Given the description of an element on the screen output the (x, y) to click on. 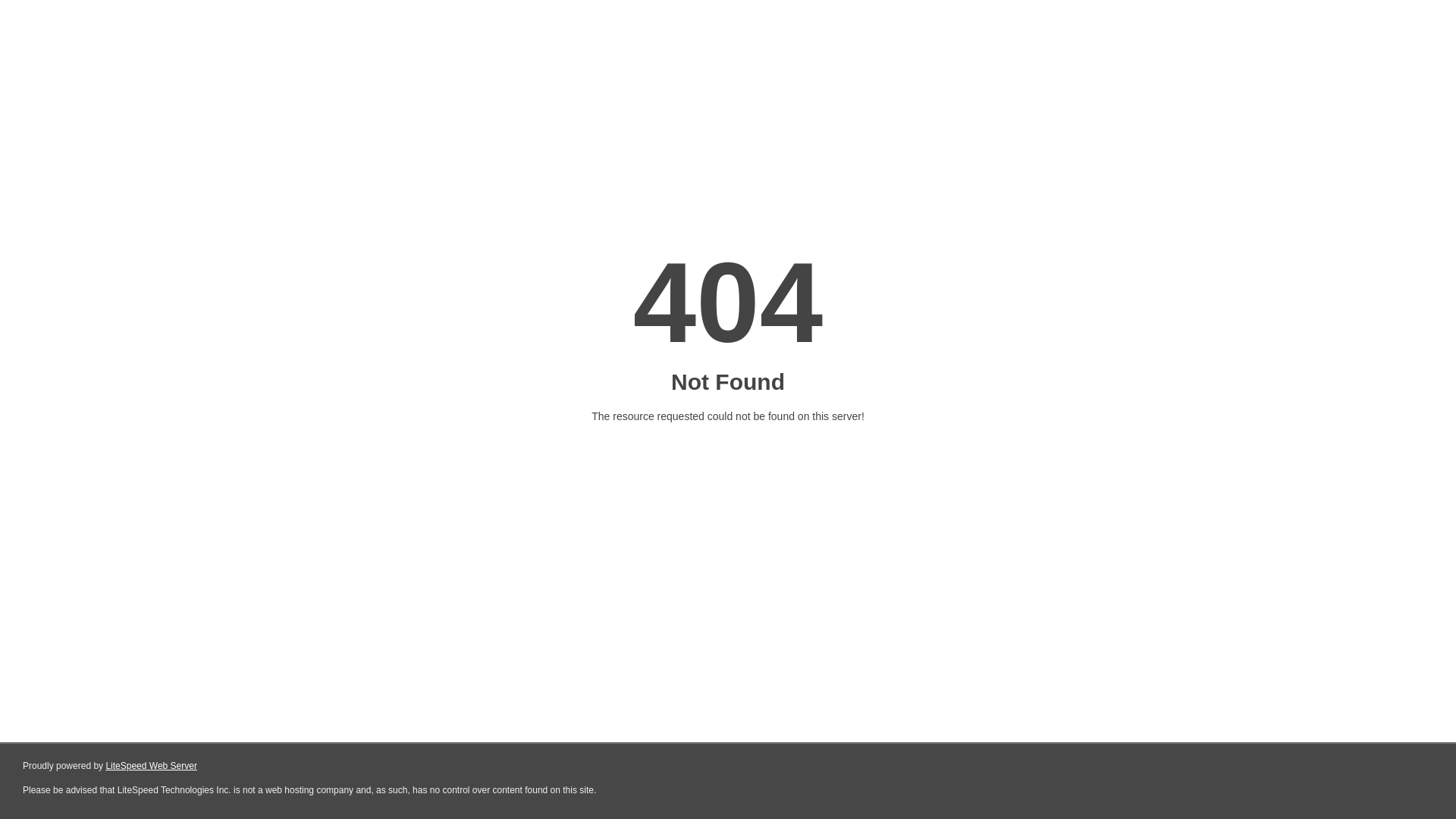
LiteSpeed Web Server Element type: text (151, 765)
